Given the description of an element on the screen output the (x, y) to click on. 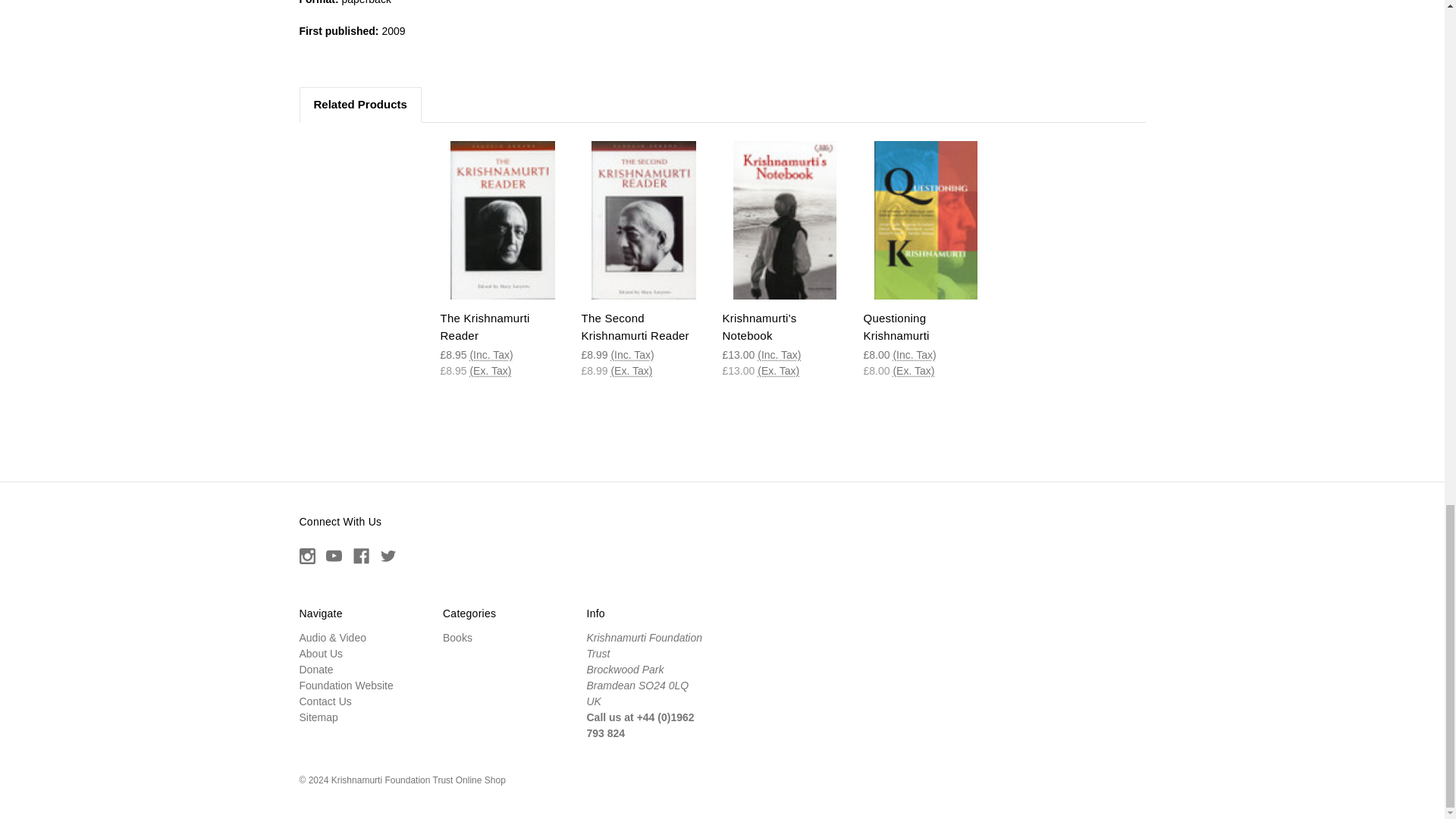
Including Tax (631, 354)
Excluding Tax (489, 370)
Including Tax (490, 354)
